Given the description of an element on the screen output the (x, y) to click on. 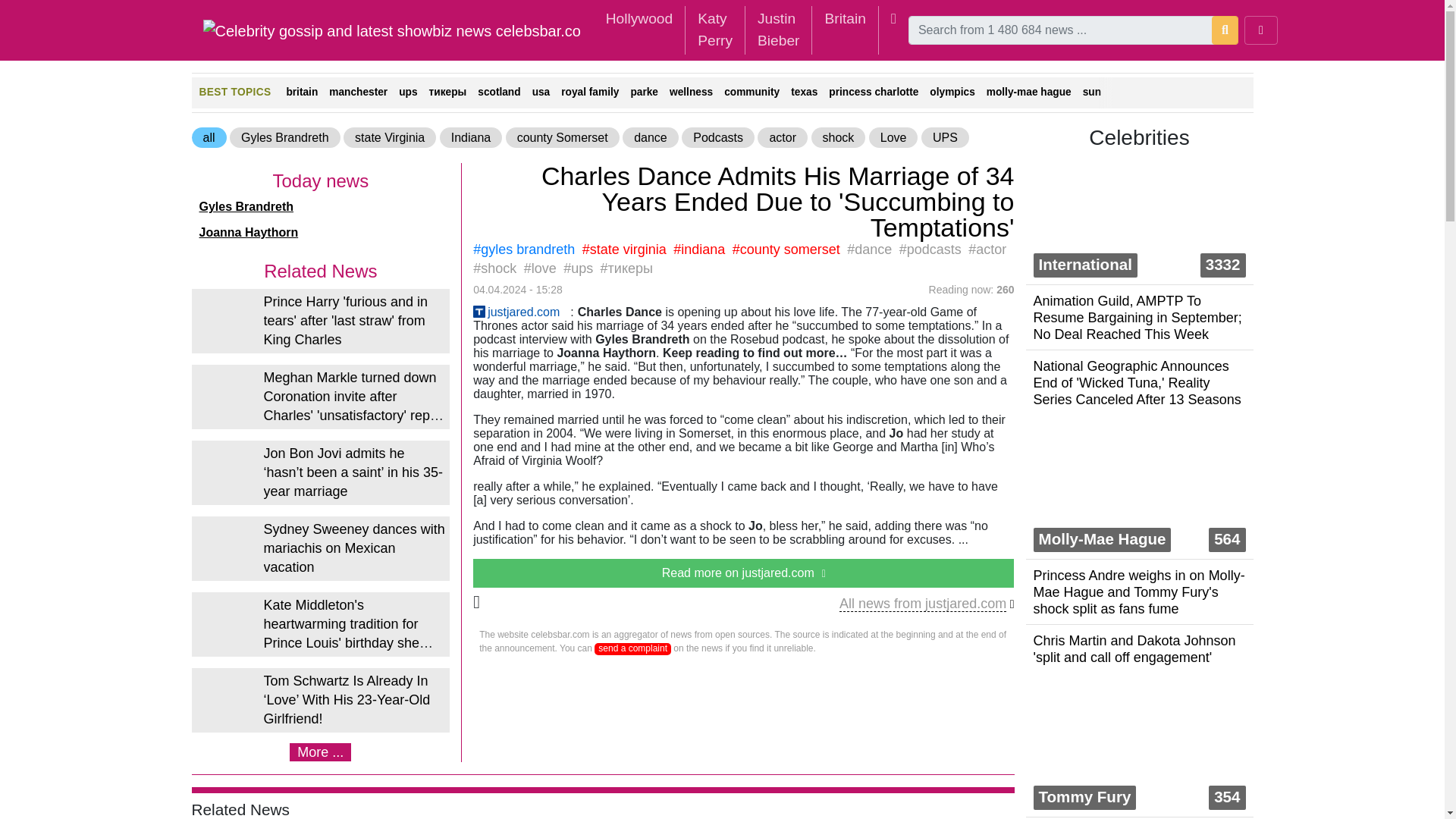
Justin Bieber (777, 29)
Hollywood (639, 18)
Britain (844, 18)
Britain (844, 18)
Katy Perry (714, 29)
Hollywood (639, 18)
Justin Bieber (777, 29)
Katy Perry (714, 29)
